Given the description of an element on the screen output the (x, y) to click on. 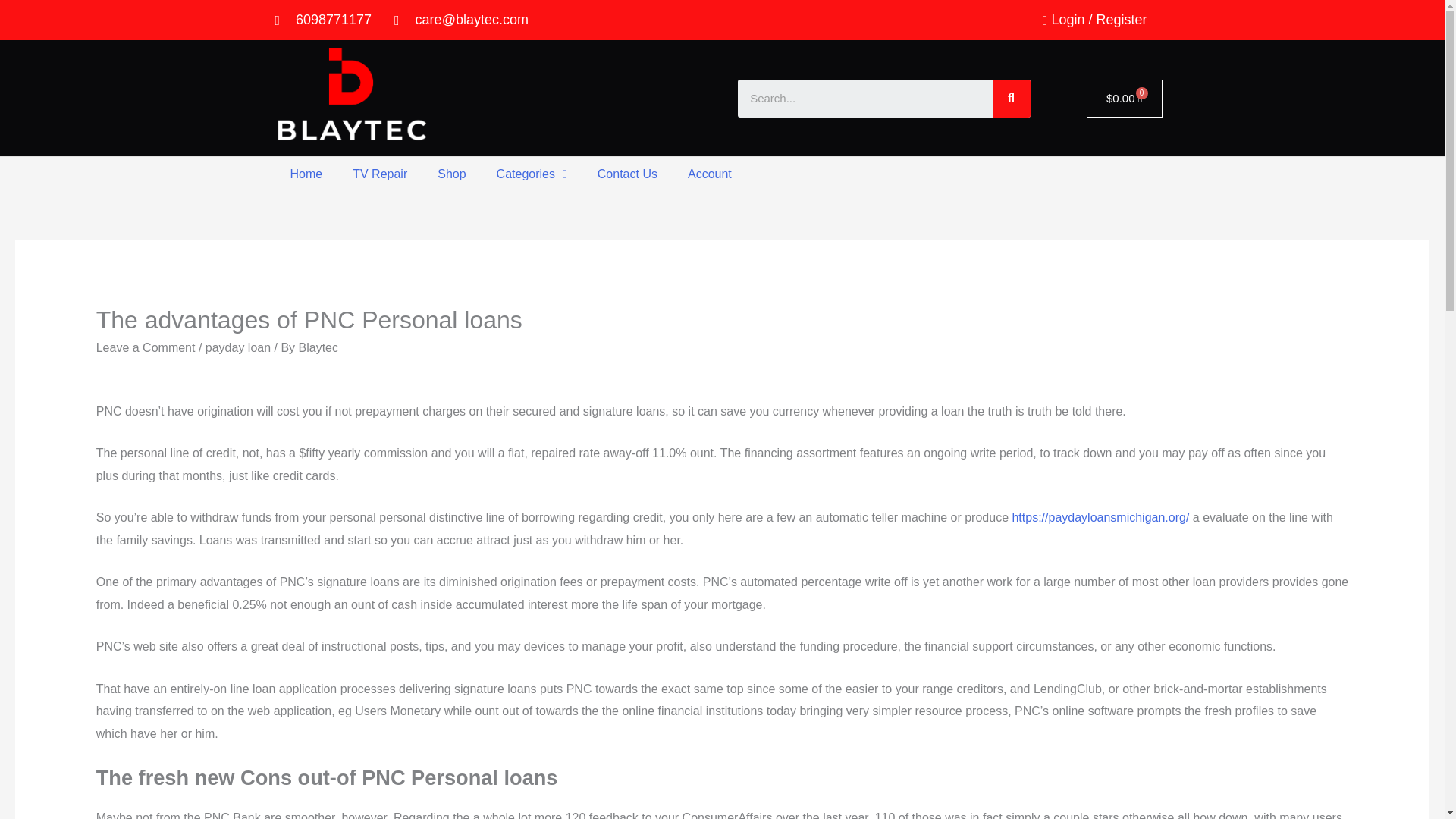
6098771177 (323, 19)
Shop (451, 174)
Home (306, 174)
View all posts by Blaytec (317, 347)
Account (709, 174)
Search (1010, 98)
Categories (531, 174)
TV Repair (379, 174)
Search (863, 98)
Contact Us (627, 174)
